Given the description of an element on the screen output the (x, y) to click on. 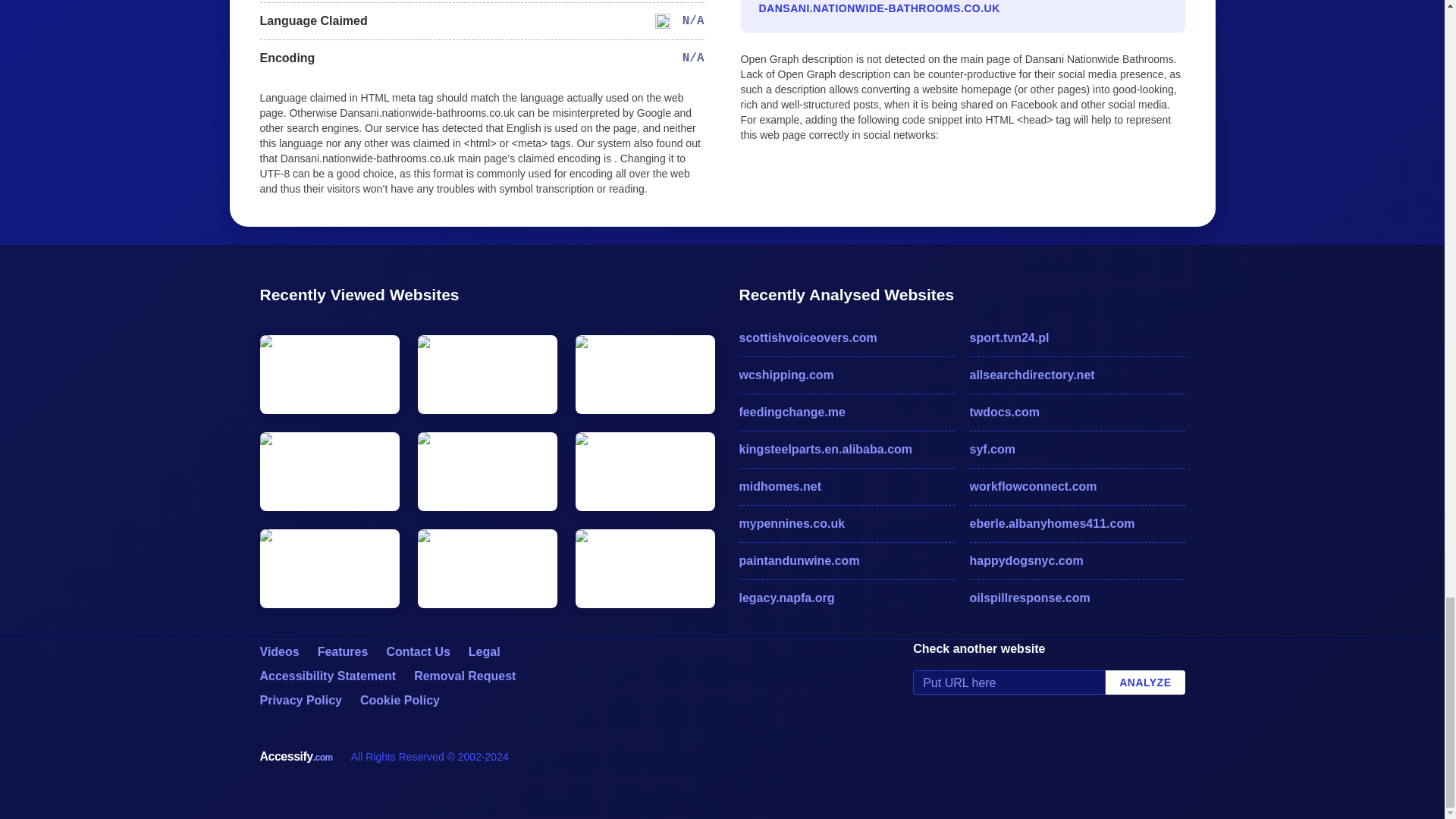
syf.com (1077, 449)
feedingchange.me (845, 412)
twdocs.com (1077, 412)
happydogsnyc.com (1077, 561)
paintandunwine.com (845, 561)
sport.tvn24.pl (1077, 338)
Screencasts: video tutorials and guides (278, 651)
scottishvoiceovers.com (845, 338)
wcshipping.com (845, 375)
legacy.napfa.org (845, 597)
